Given the description of an element on the screen output the (x, y) to click on. 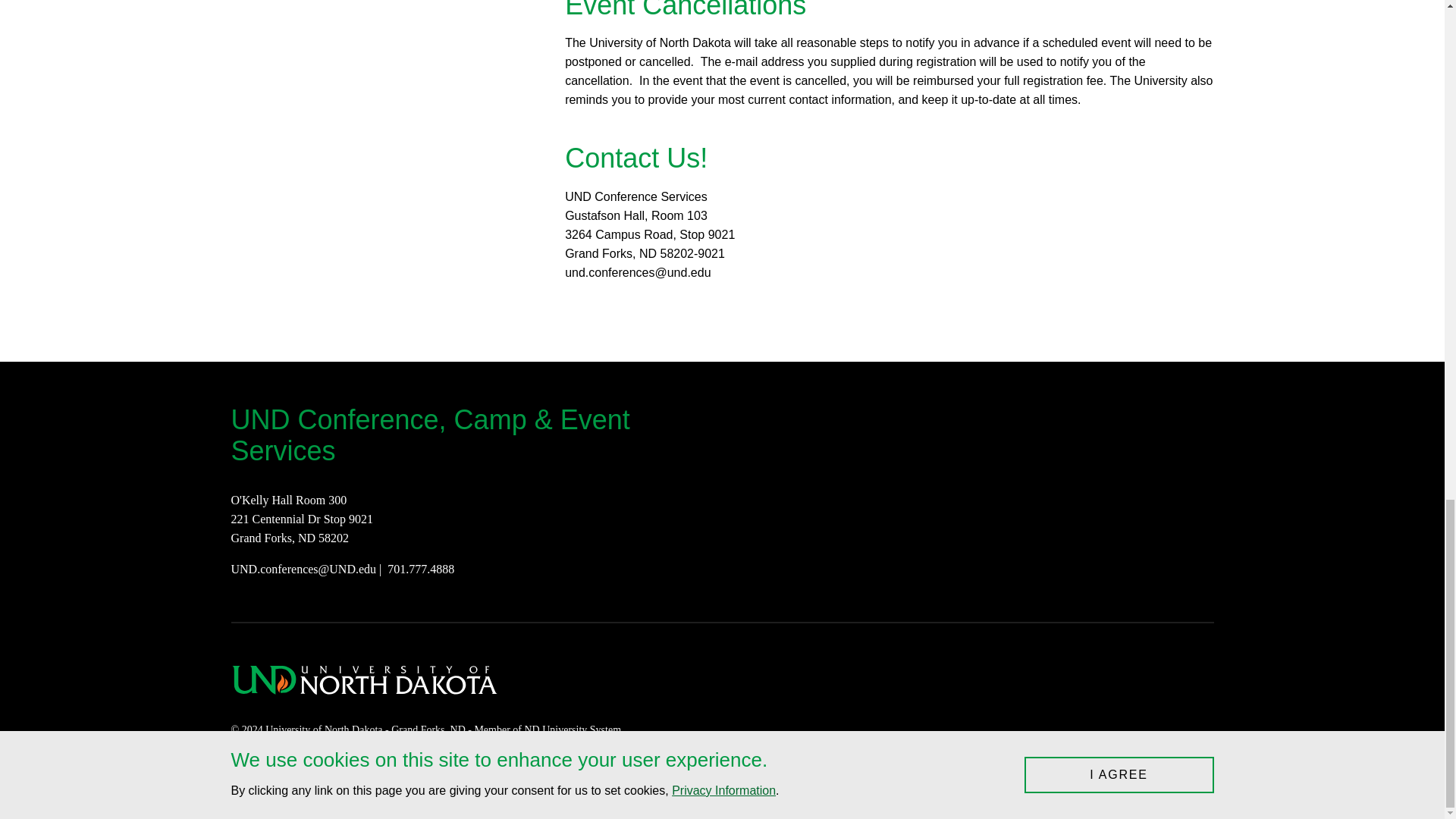
701.777.4888 (420, 568)
Notice of Nondiscrimination (564, 768)
